Given the description of an element on the screen output the (x, y) to click on. 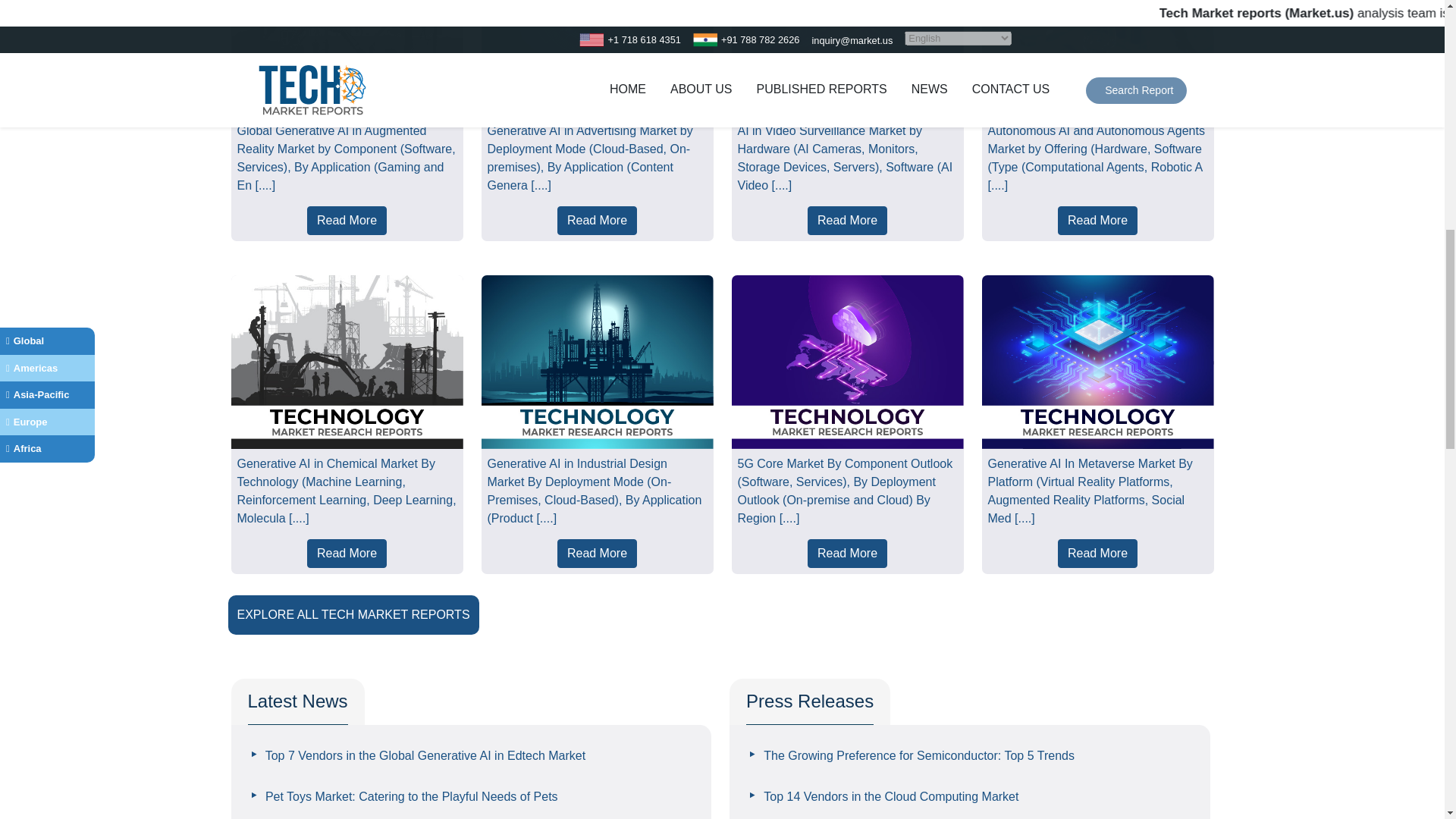
Read More (347, 553)
Read More (597, 553)
Top 7 Vendors in the Global Generative AI in Edtech Market (416, 755)
Read More (347, 220)
Pet Toys Market: Catering to the Playful Needs of Pets (402, 796)
Read More (847, 220)
Read More (1097, 220)
Read More (847, 553)
Read More (597, 220)
EXPLORE ALL TECH MARKET REPORTS (351, 614)
Read More (1097, 553)
